Given the description of an element on the screen output the (x, y) to click on. 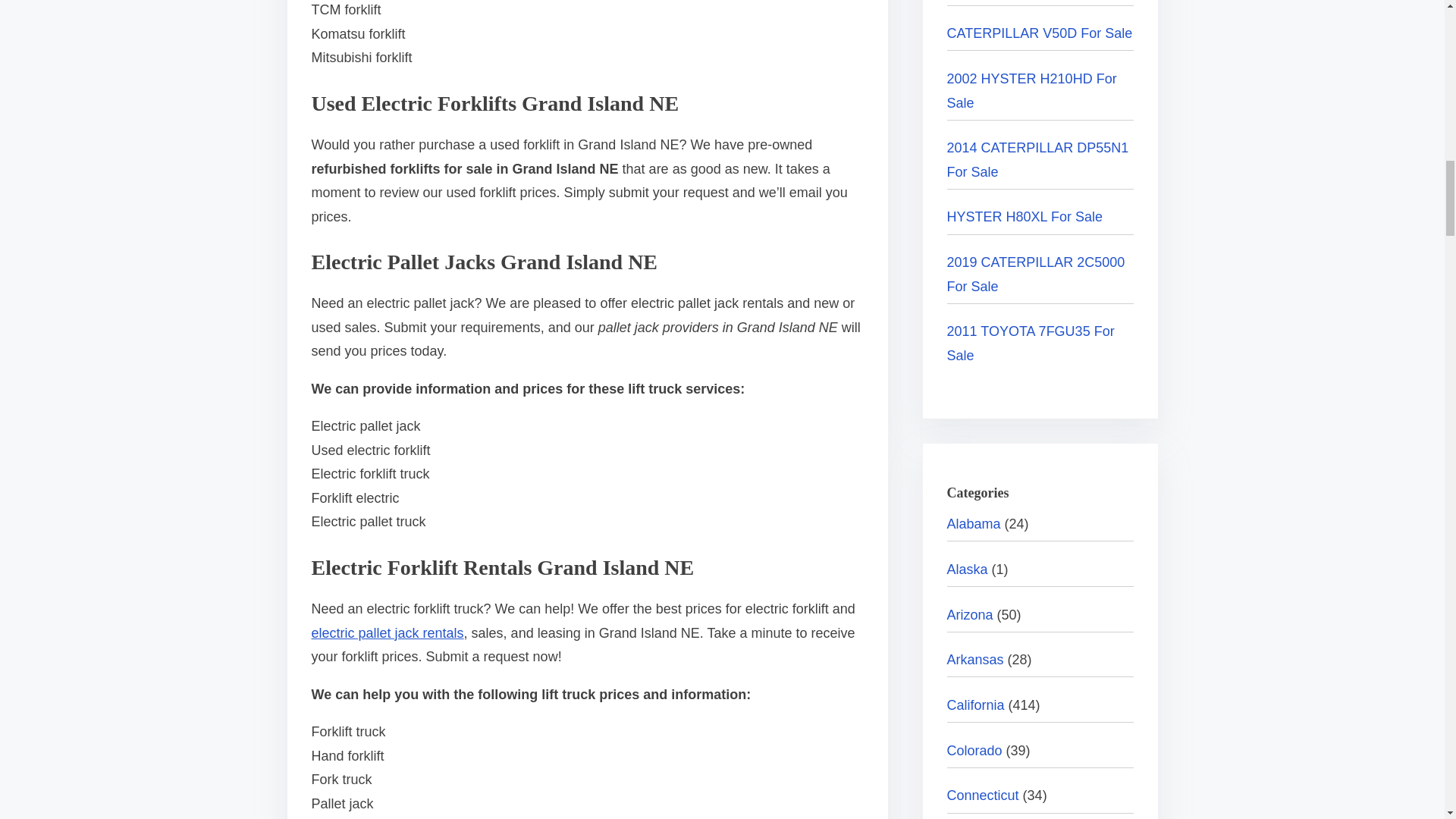
electric pallet jack rentals (387, 632)
